Given the description of an element on the screen output the (x, y) to click on. 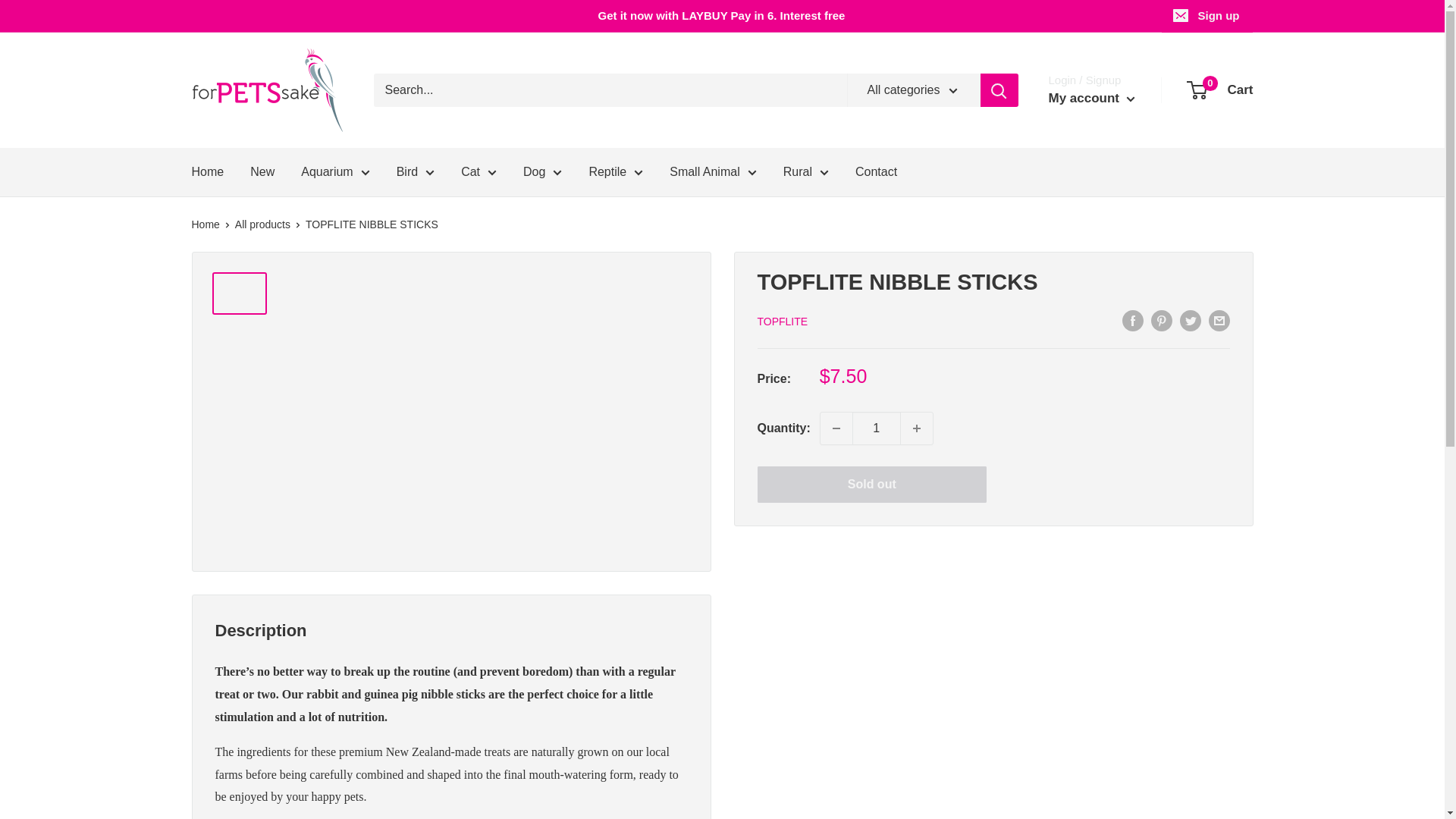
Sign up (1206, 15)
Decrease quantity by 1 (836, 428)
Increase quantity by 1 (917, 428)
1 (876, 428)
